Given the description of an element on the screen output the (x, y) to click on. 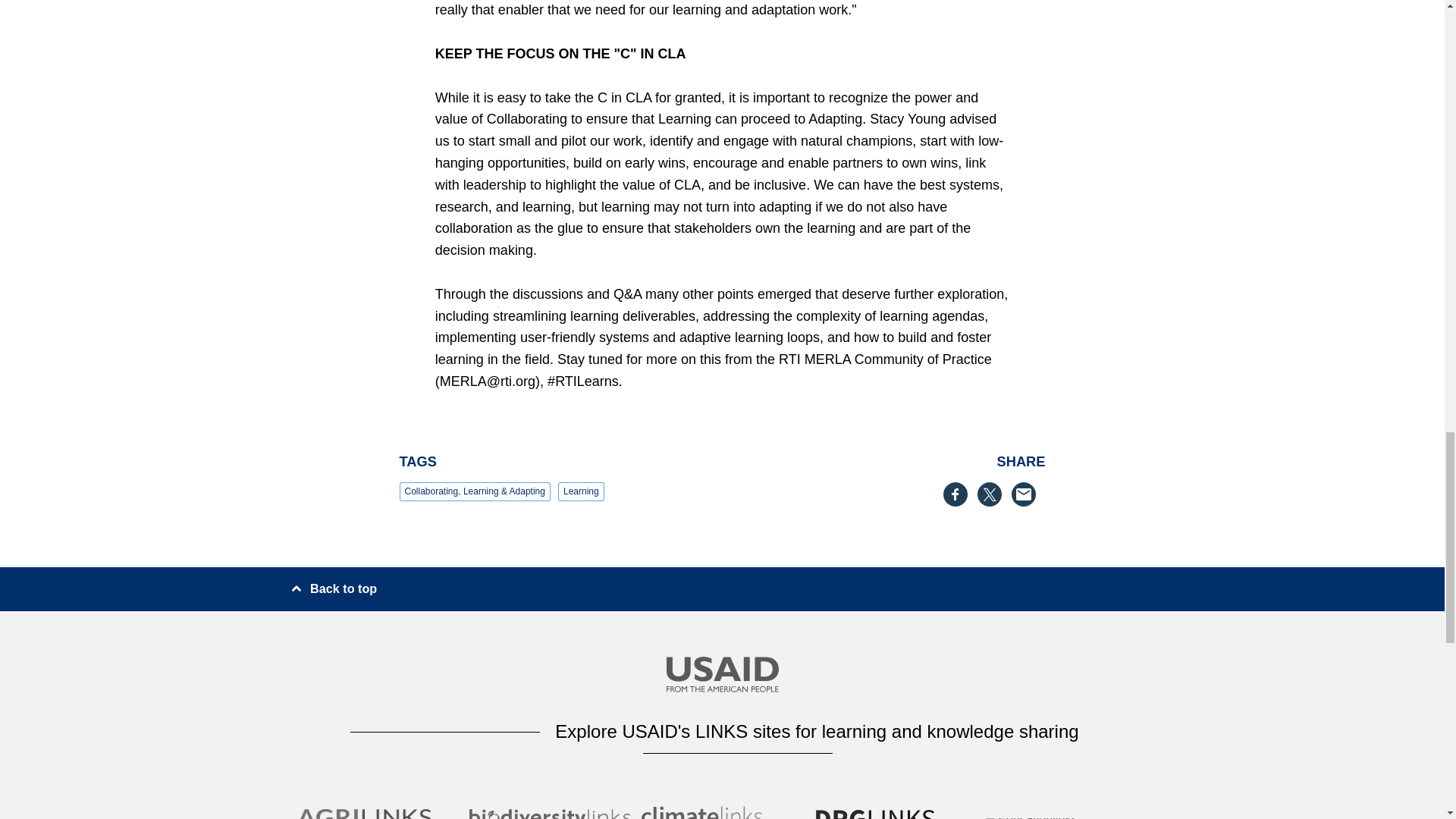
Learning (580, 491)
Back to top (334, 588)
Share this page on Twitter (993, 494)
Share this page on Facebook (959, 494)
Go to Educationlinks (1066, 814)
Go to DRG (894, 814)
Go to USAID (721, 677)
Go to Climatelinks (722, 814)
Share this page through email. (1028, 494)
Go to Agrilinks (377, 814)
Go to Biodiversitylinks (549, 814)
